Given the description of an element on the screen output the (x, y) to click on. 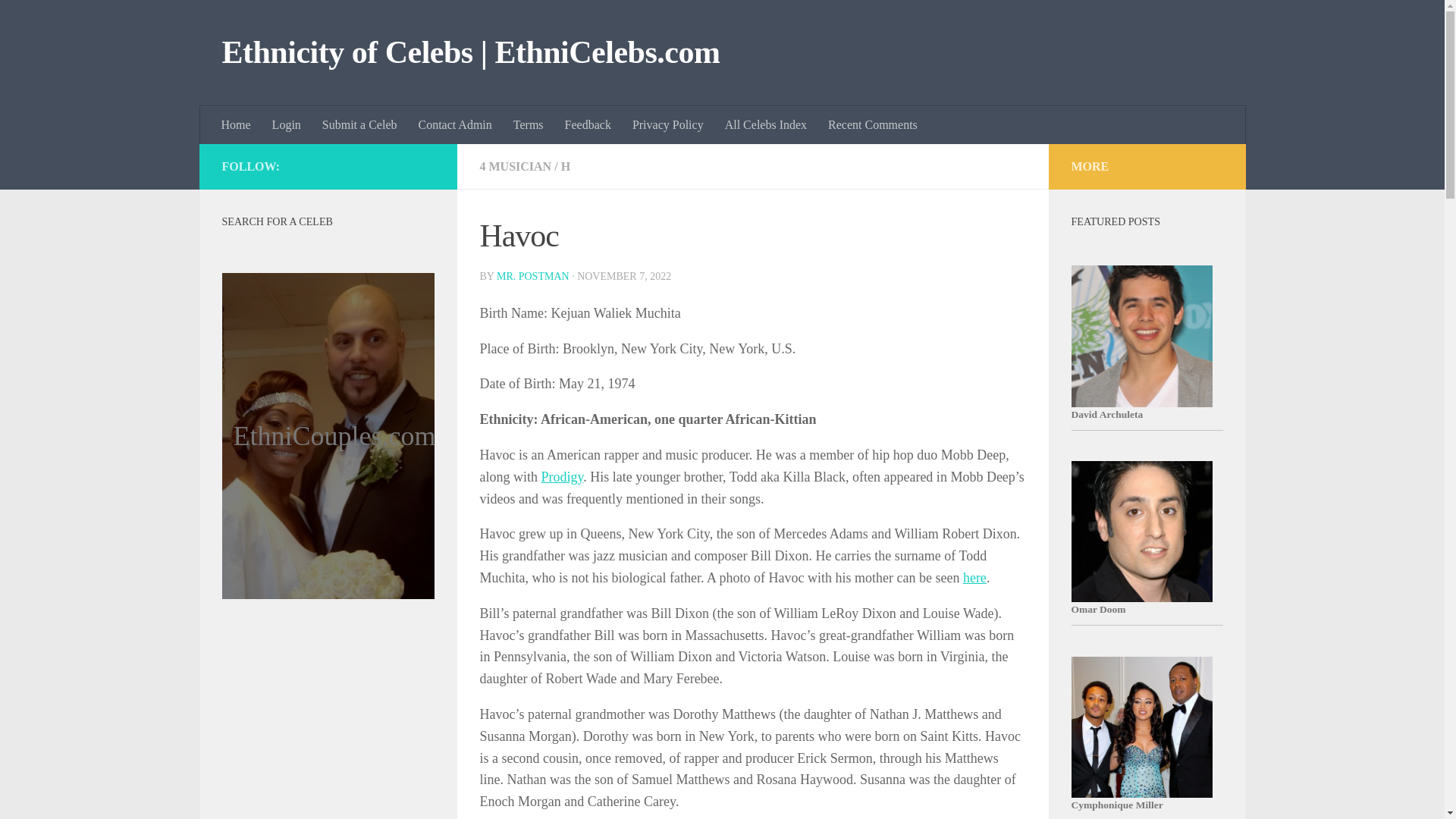
Prodigy (562, 476)
4 MUSICIAN (515, 165)
All Celebs Index (765, 125)
MR. POSTMAN (532, 276)
Privacy Policy (667, 125)
Skip to content (59, 20)
Posts by Mr. Postman (532, 276)
Feedback (587, 125)
Submit a Celeb (359, 125)
Terms (528, 125)
Recent Comments (872, 125)
Home (236, 125)
Login (286, 125)
here (974, 577)
Contact Admin (454, 125)
